Given the description of an element on the screen output the (x, y) to click on. 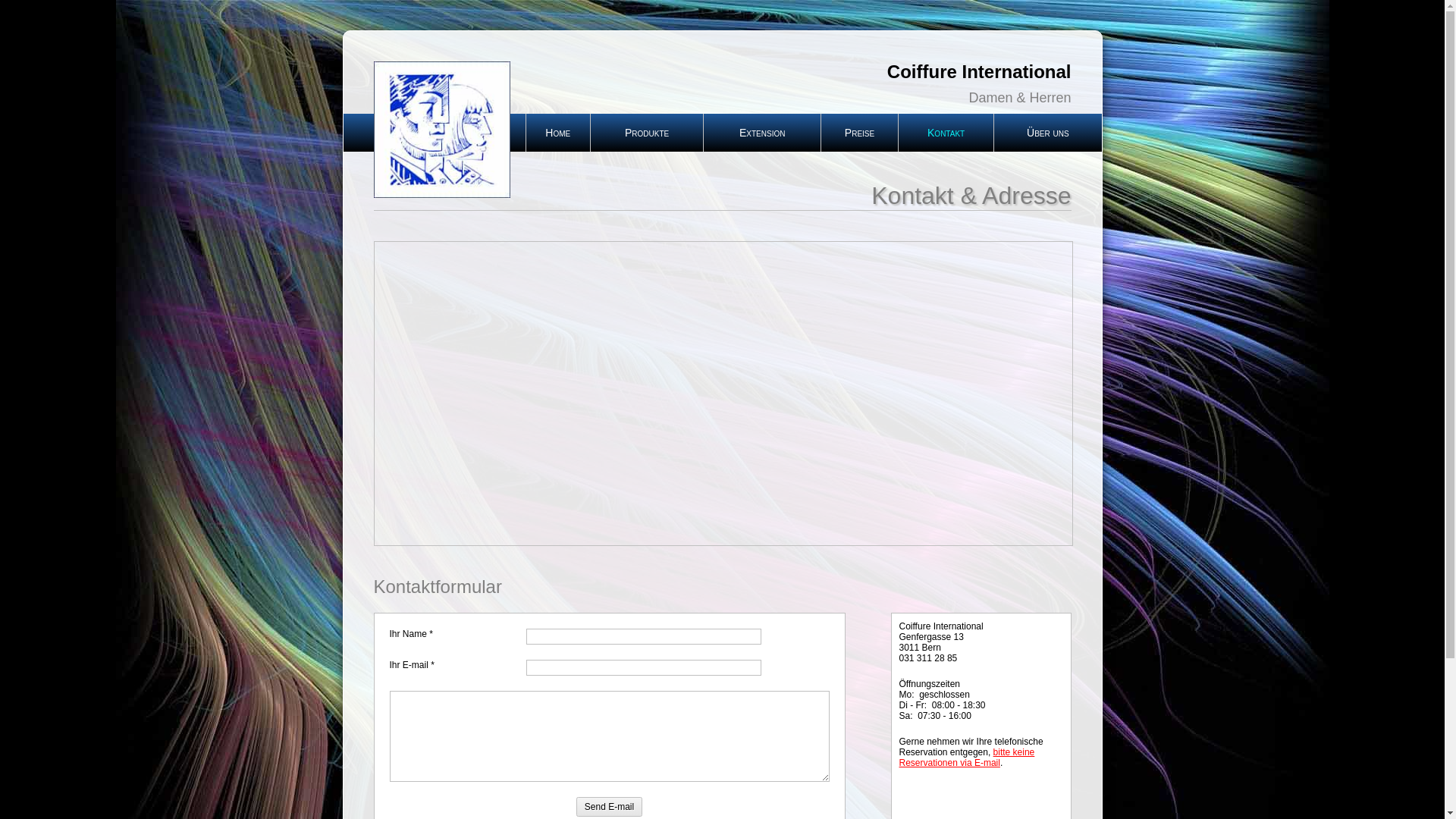
Send E-mail Element type: text (609, 806)
Home Element type: text (557, 132)
Produkte Element type: text (646, 132)
Extension Element type: text (761, 132)
Coiffure International Element type: text (706, 71)
Preise Element type: text (859, 132)
Kontakt Element type: text (945, 132)
